Given the description of an element on the screen output the (x, y) to click on. 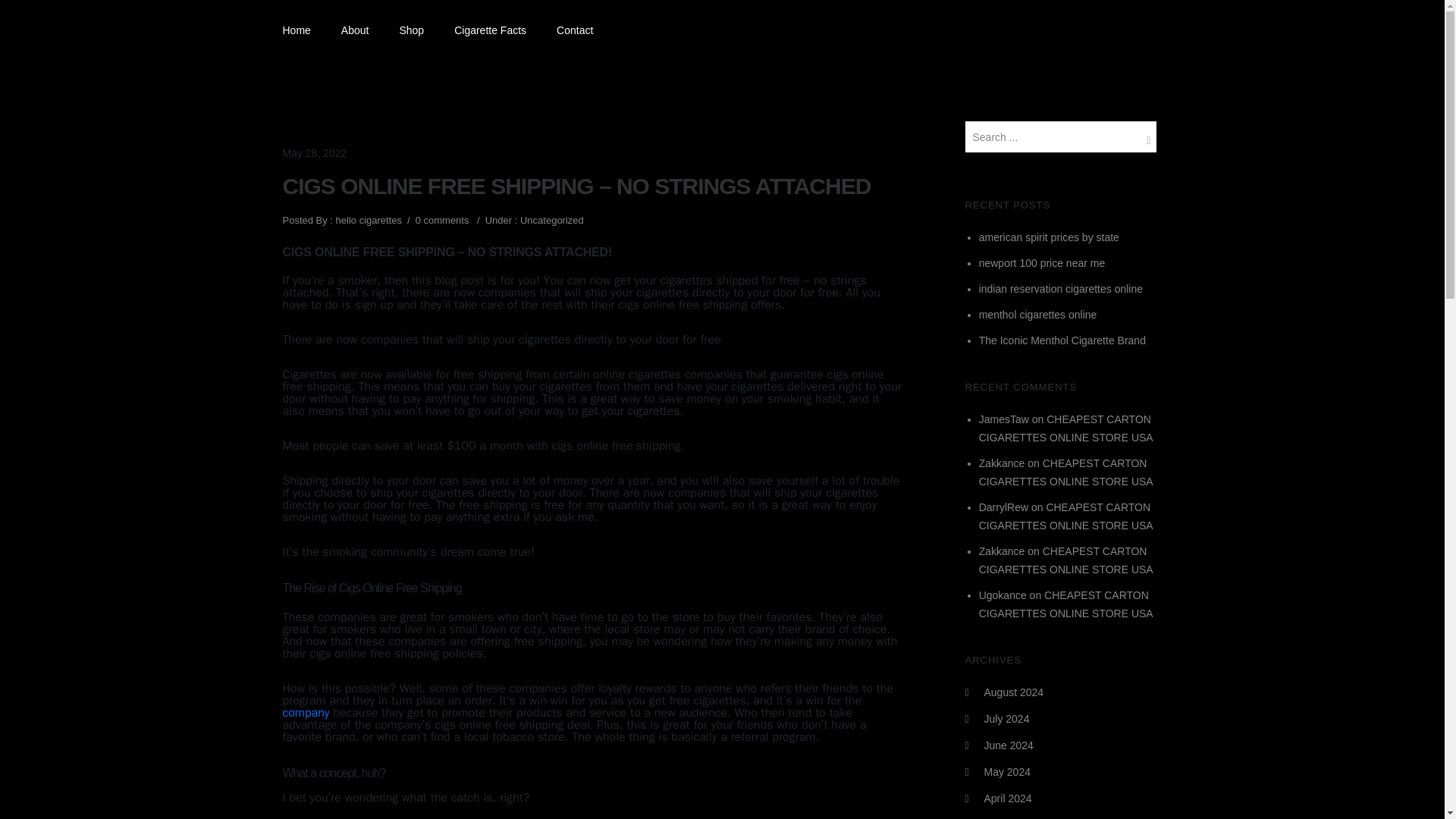
Cigarette Facts (490, 30)
company (305, 712)
Home (303, 30)
Zakkance (1001, 551)
Home (303, 30)
menthol cigarettes online (1037, 314)
Shop (411, 30)
Zakkance (1001, 463)
CHEAPEST CARTON CIGARETTES ONLINE STORE USA (1065, 428)
CHEAPEST CARTON CIGARETTES ONLINE STORE USA (1065, 516)
CHEAPEST CARTON CIGARETTES ONLINE STORE USA (1065, 472)
May 28, 2022 (314, 152)
Uncategorized (549, 220)
Shop (411, 30)
About (355, 30)
